Given the description of an element on the screen output the (x, y) to click on. 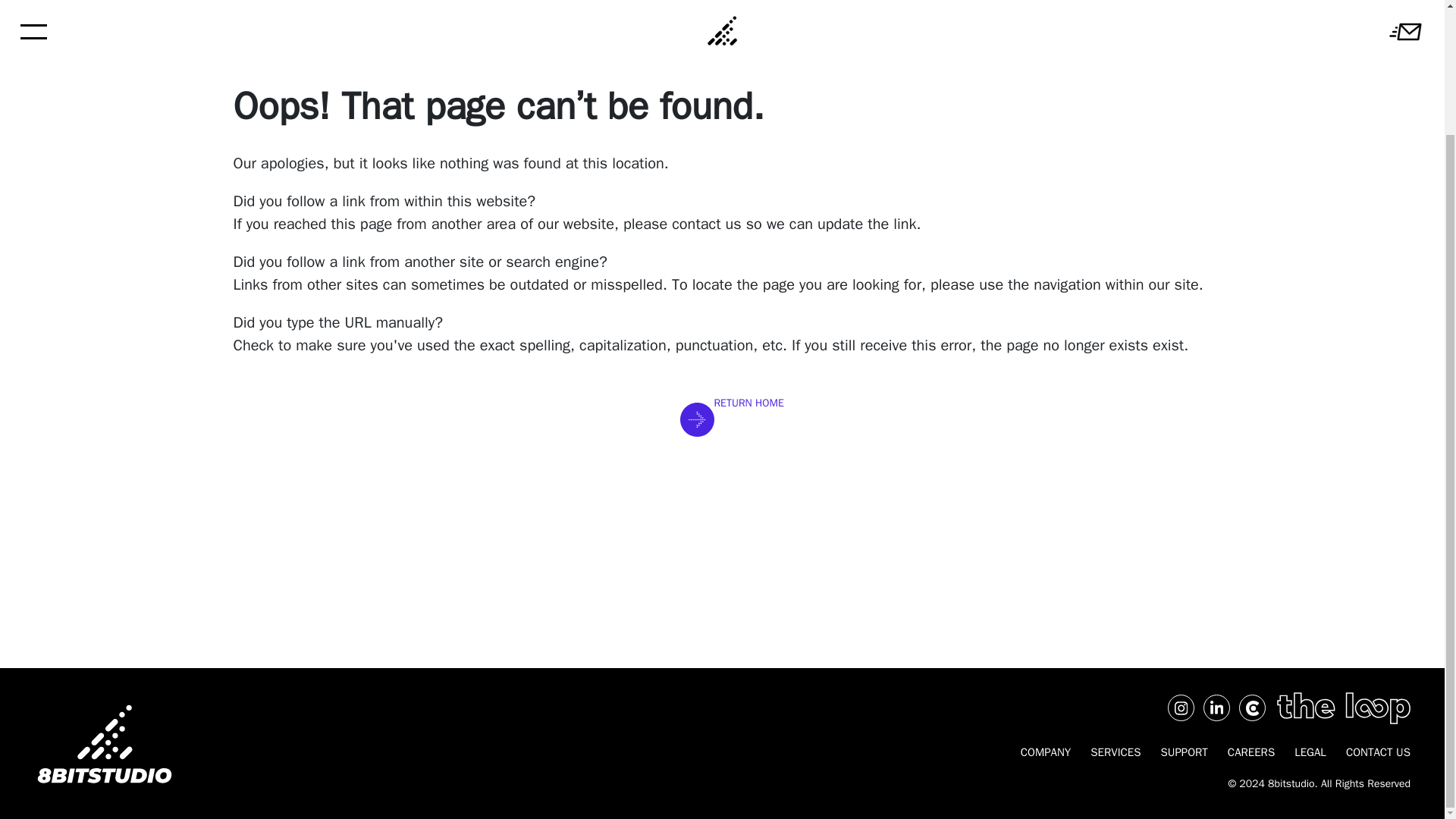
The Loop (1343, 707)
CAREERS (1251, 752)
SUPPORT (1183, 752)
LEGAL (1310, 752)
COMPANY (1045, 752)
SERVICES (1115, 752)
Instagram (1180, 707)
Clutch (1252, 707)
CONTACT US (1374, 752)
LinkedIn (1217, 707)
